Given the description of an element on the screen output the (x, y) to click on. 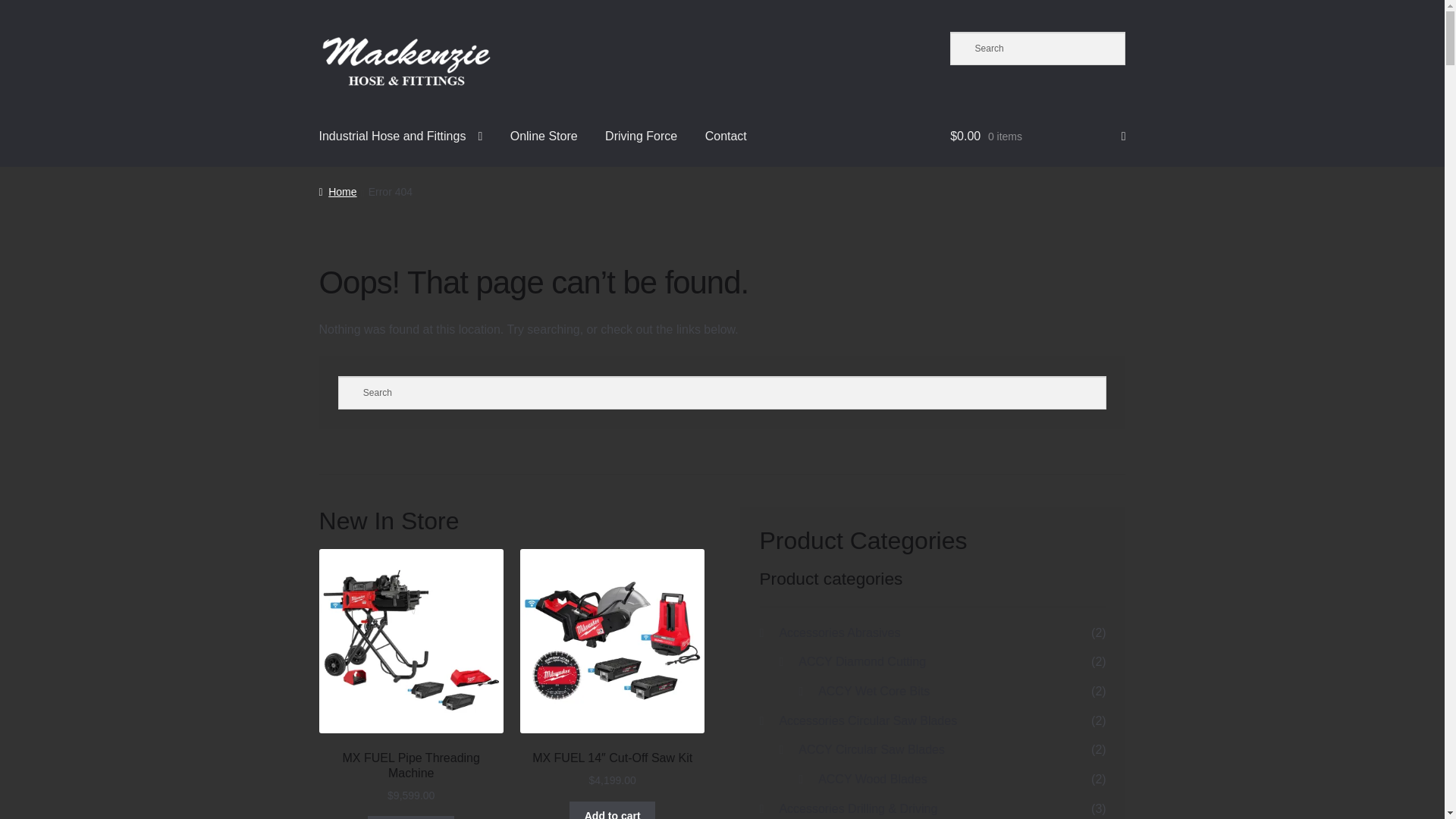
Home (337, 191)
Add to cart (411, 817)
ACCY Wood Blades (872, 779)
ACCY Circular Saw Blades (870, 748)
ACCY Wet Core Bits (874, 690)
Contact (725, 136)
View your shopping cart (1037, 136)
Online Store (543, 136)
ACCY Diamond Cutting (861, 661)
